Given the description of an element on the screen output the (x, y) to click on. 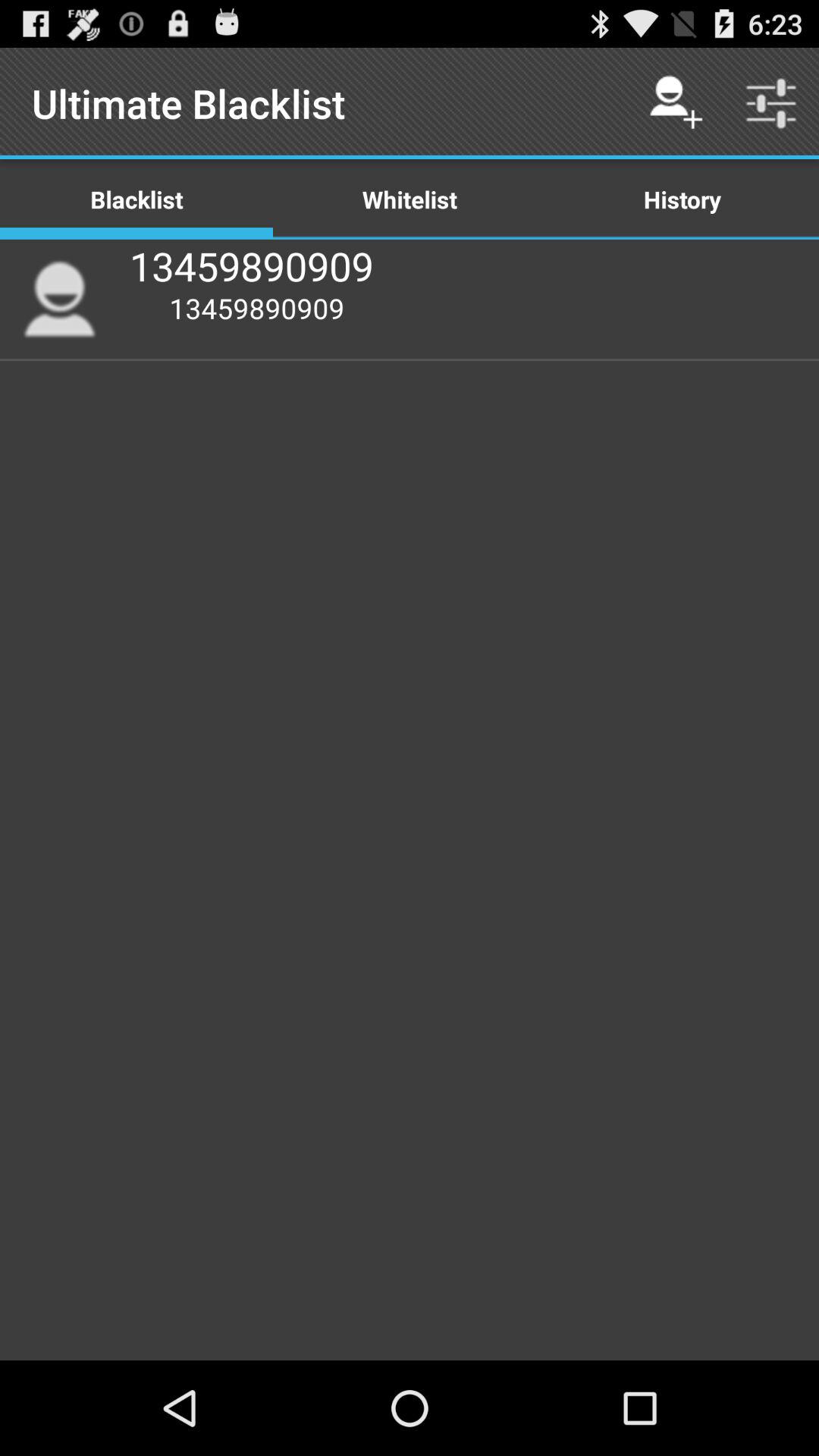
open icon above history icon (675, 103)
